Given the description of an element on the screen output the (x, y) to click on. 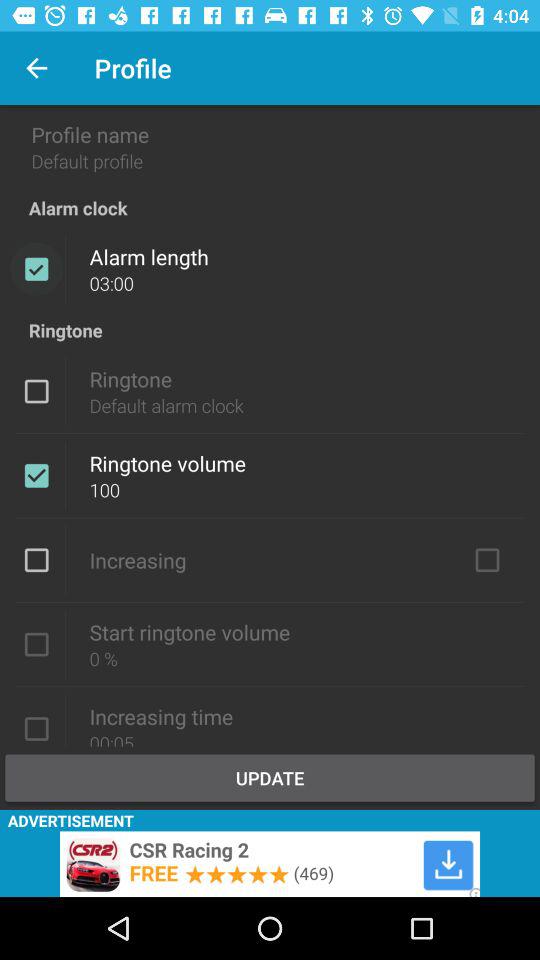
toggles alarm length (36, 269)
